Given the description of an element on the screen output the (x, y) to click on. 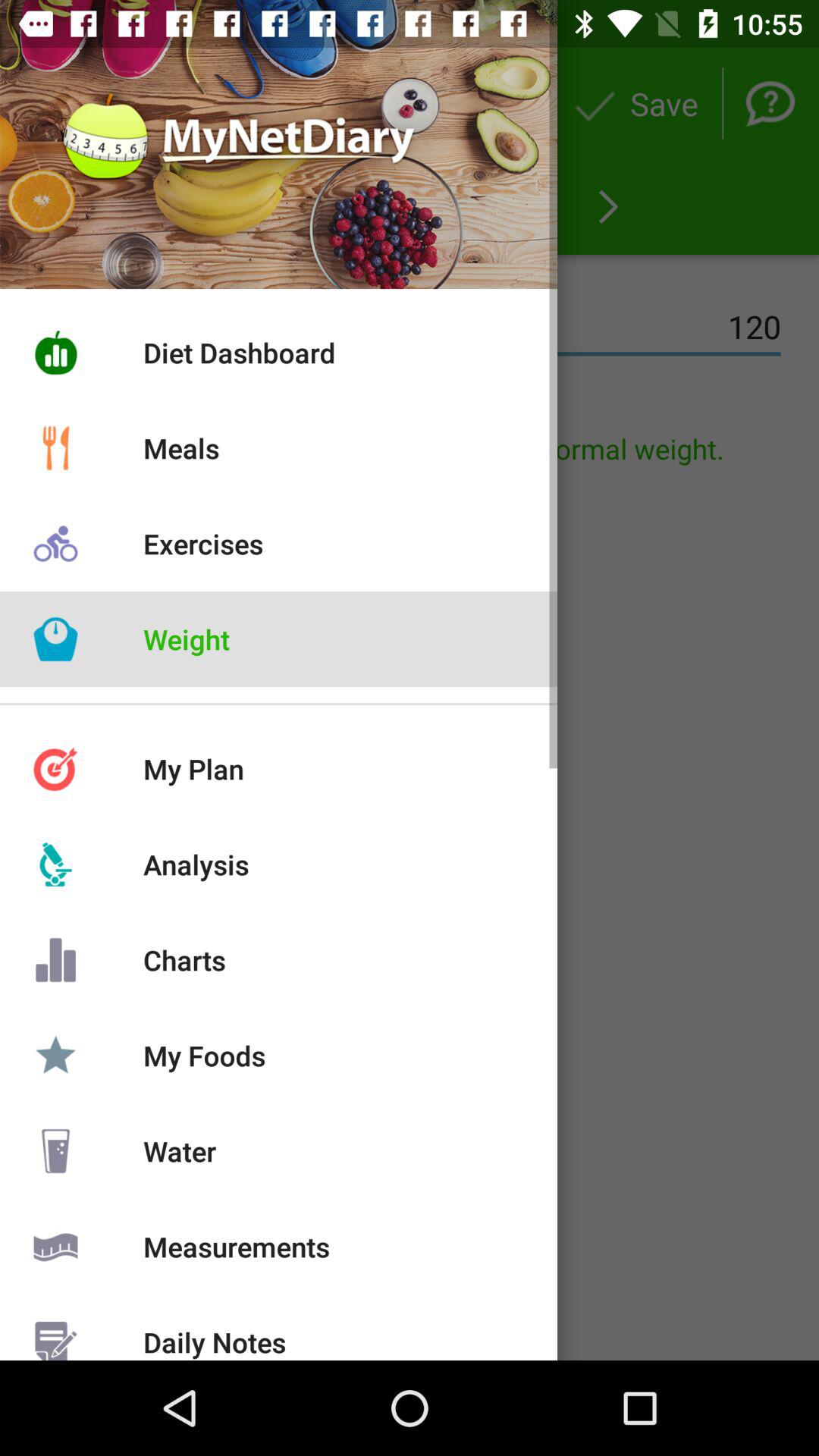
click on the icon arrow (608, 206)
